Given the description of an element on the screen output the (x, y) to click on. 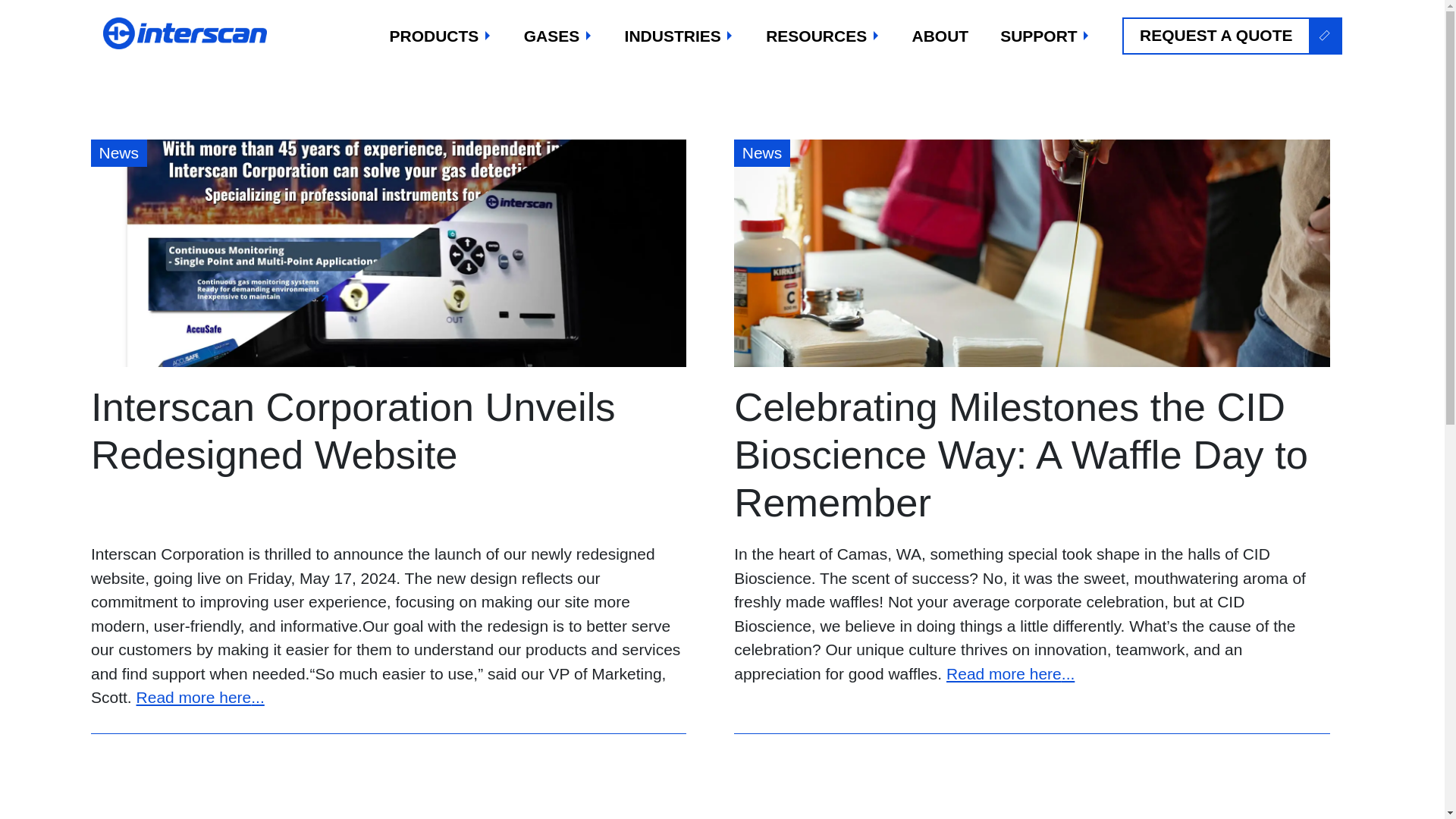
Interscan Corporation (186, 33)
INDUSTRIES (678, 35)
PRODUCTS (439, 35)
Gases (557, 35)
Products (439, 35)
GASES (557, 35)
